Given the description of an element on the screen output the (x, y) to click on. 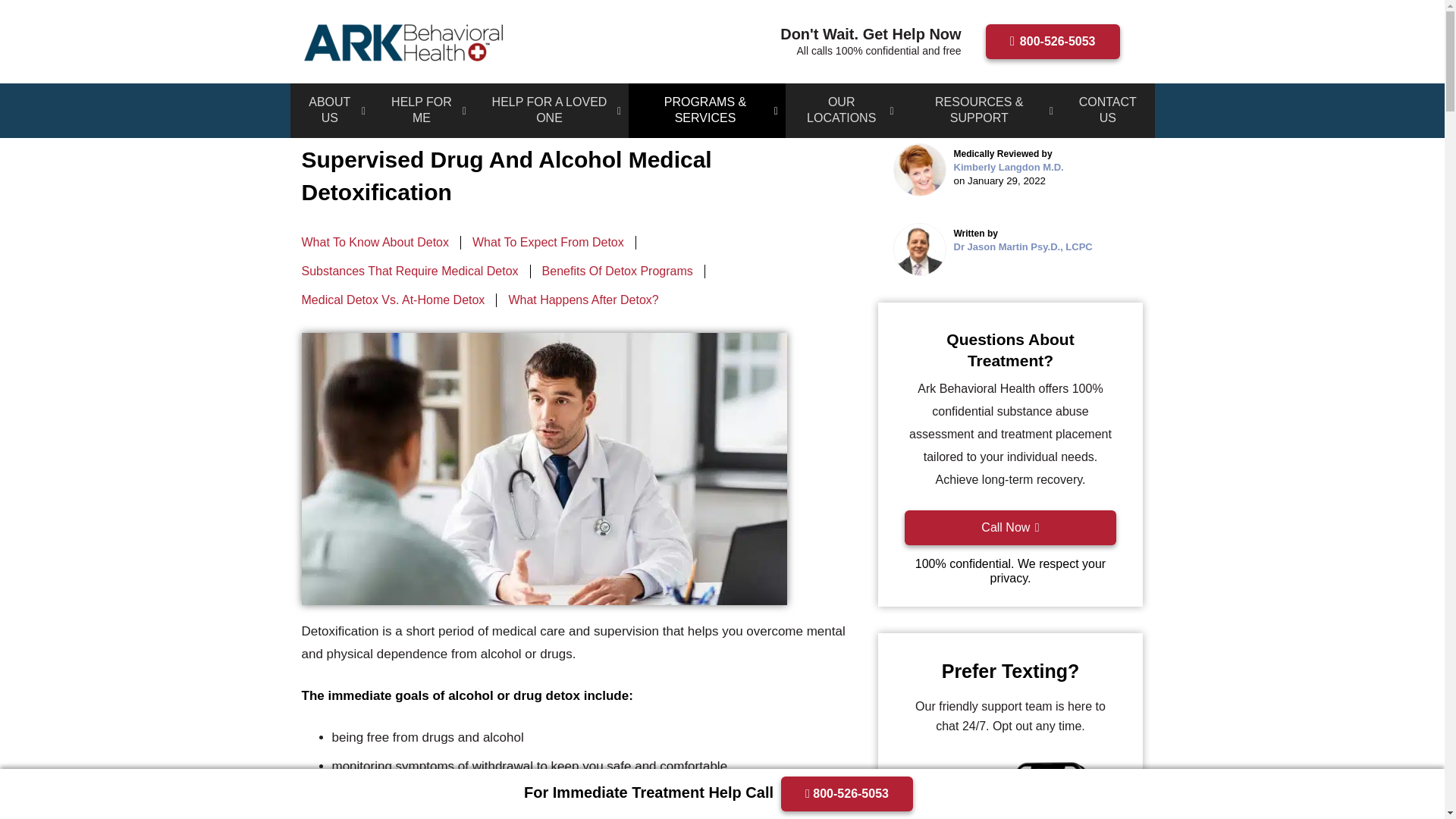
800-526-5053 (1052, 41)
